Given the description of an element on the screen output the (x, y) to click on. 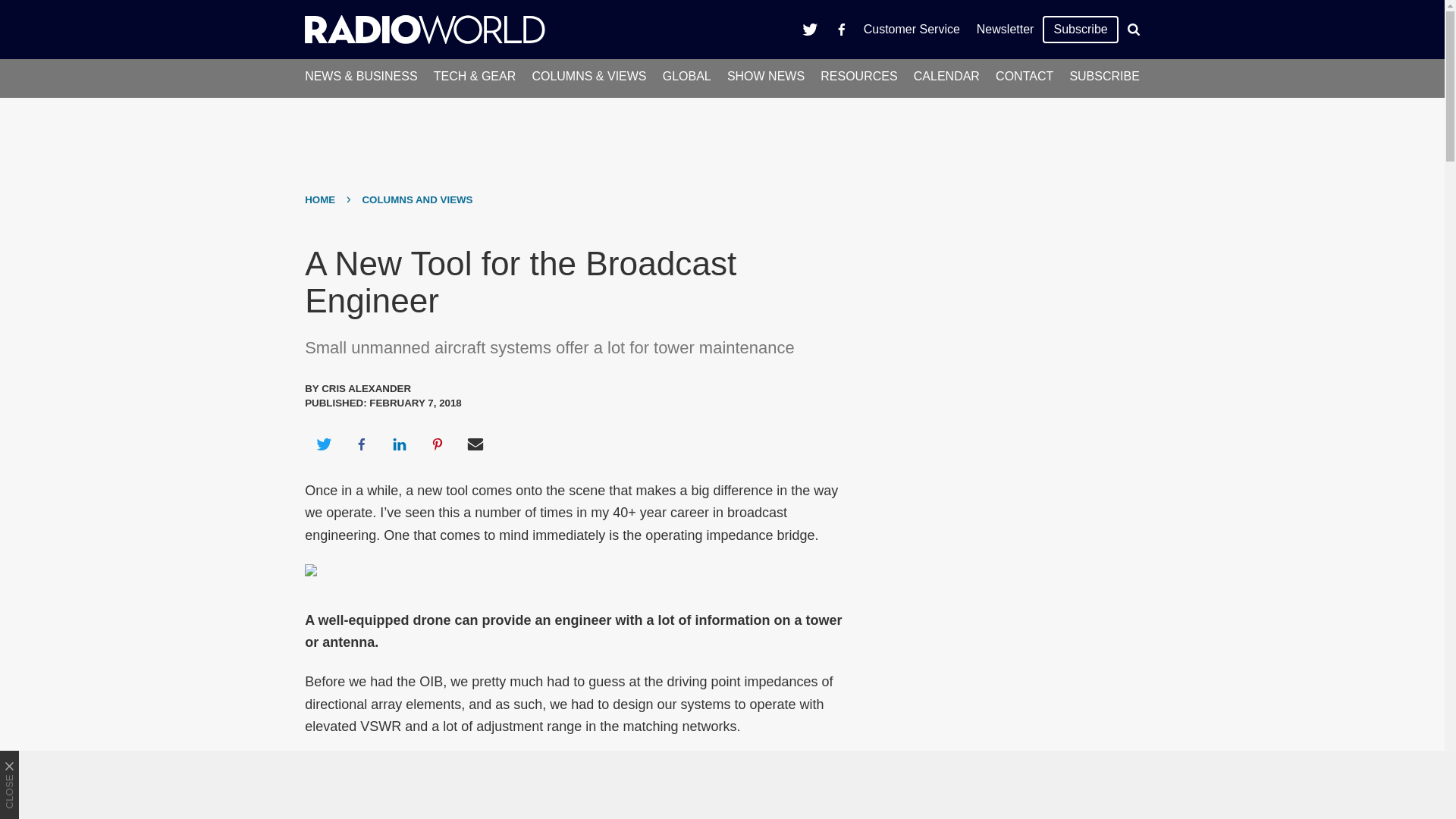
Share on LinkedIn (399, 444)
Share via Email (476, 444)
Customer Service (912, 29)
Share on Facebook (361, 444)
Share on Pinterest (438, 444)
Share on Twitter (323, 444)
